Given the description of an element on the screen output the (x, y) to click on. 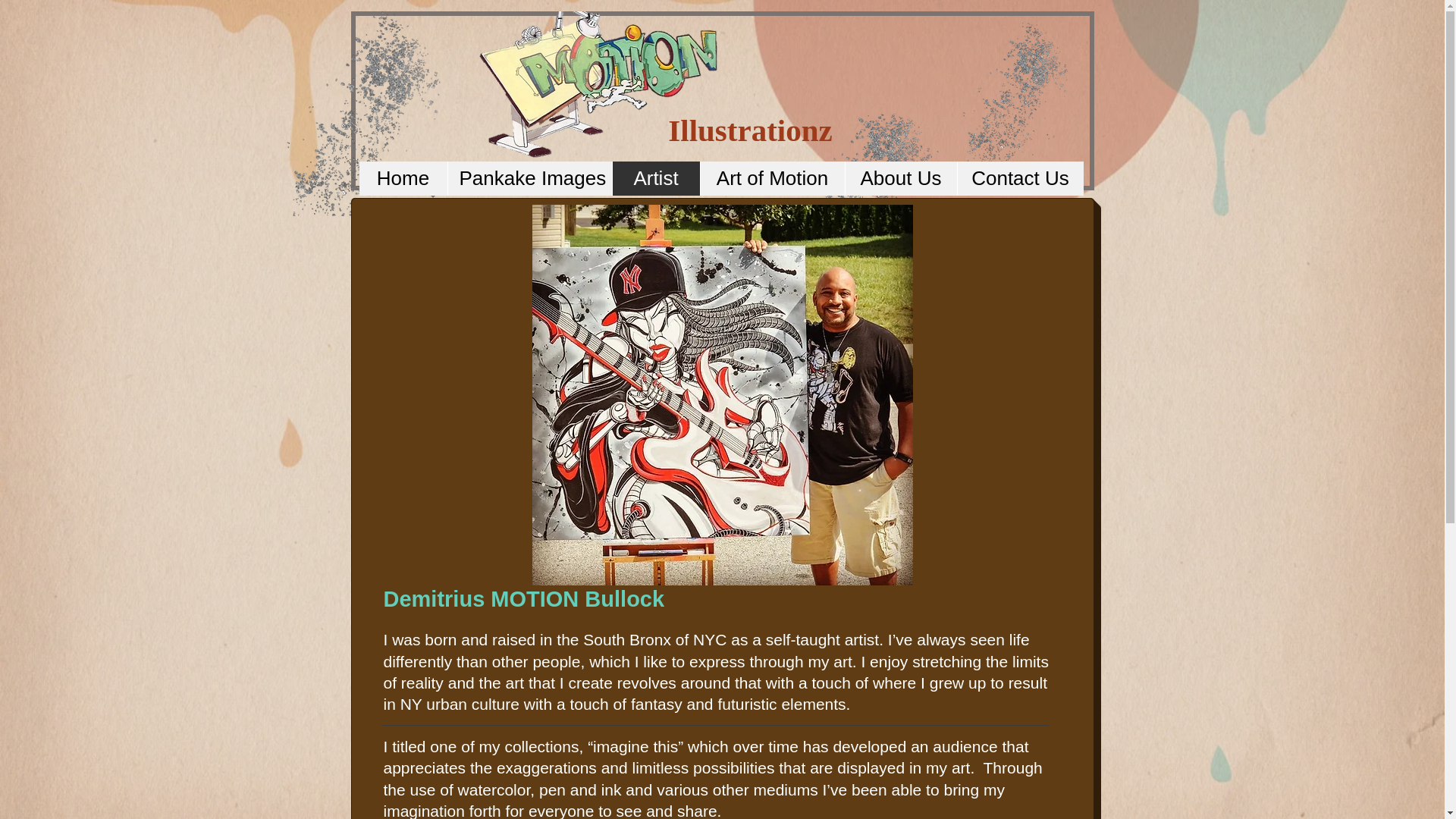
About Us (900, 178)
Artist (654, 178)
Art of Motion (771, 178)
Pankake Images (528, 178)
logo1.png (600, 92)
Home (402, 178)
Contact Us (1019, 178)
